Given the description of an element on the screen output the (x, y) to click on. 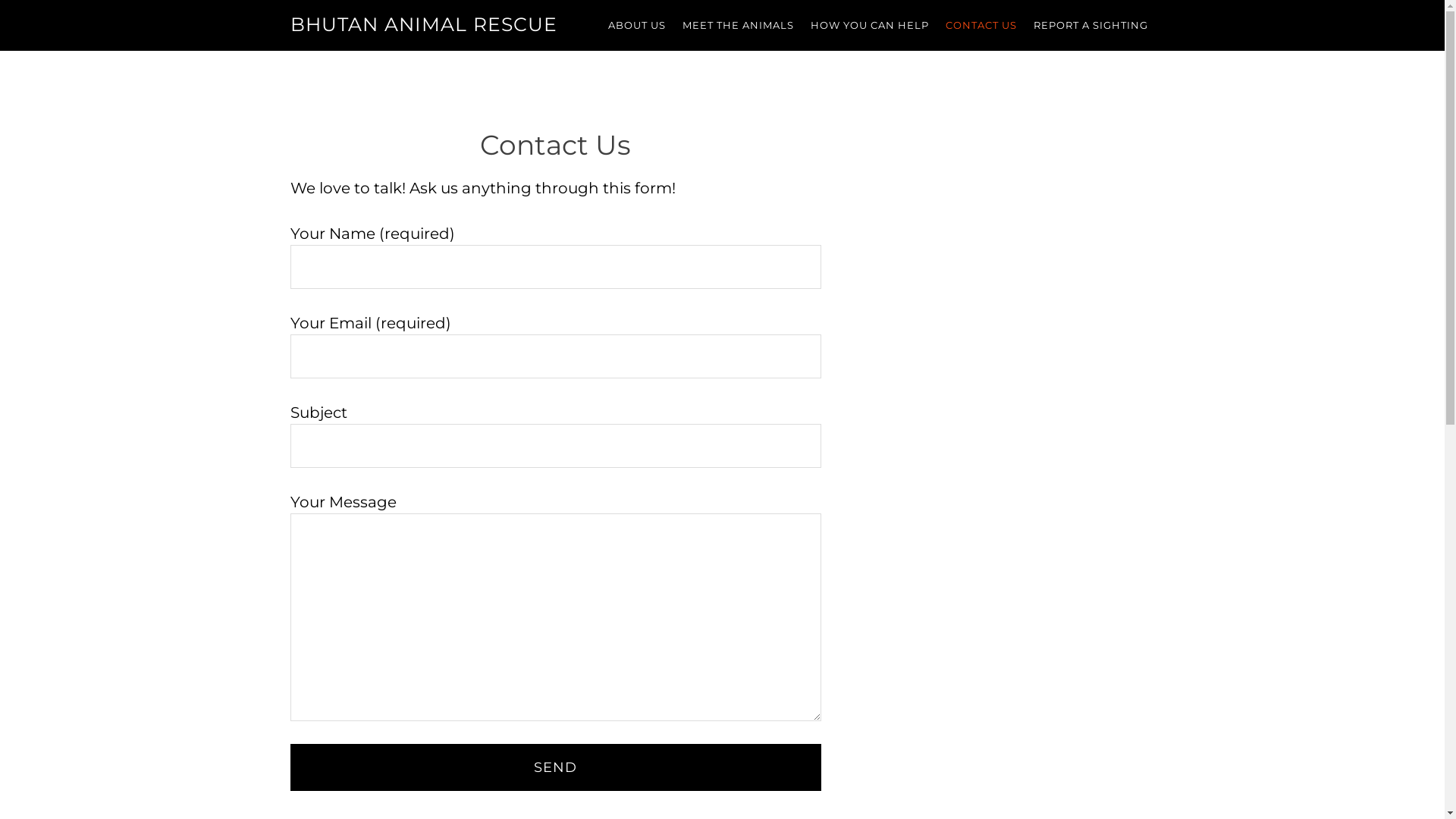
HOW YOU CAN HELP Element type: text (869, 25)
MEET THE ANIMALS Element type: text (737, 25)
ABOUT US Element type: text (635, 25)
REPORT A SIGHTING Element type: text (1090, 25)
Send Element type: text (554, 766)
BHUTAN ANIMAL RESCUE Element type: text (422, 23)
CONTACT US Element type: text (980, 25)
